Given the description of an element on the screen output the (x, y) to click on. 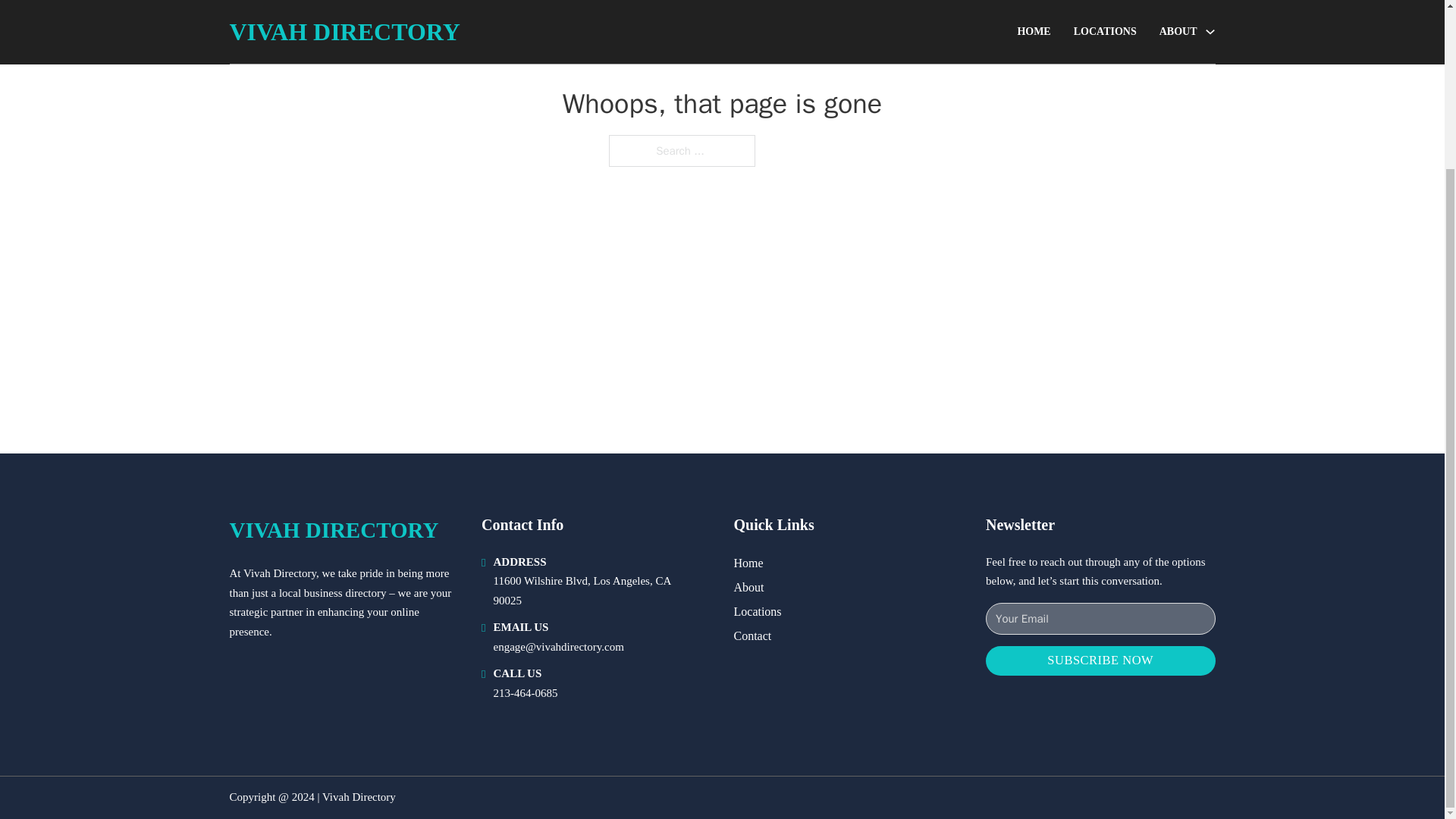
SUBSCRIBE NOW (1100, 660)
Home (747, 562)
Contact (752, 635)
11600 Wilshire Blvd, Los Angeles, CA 90025 (581, 590)
213-464-0685 (525, 693)
Locations (757, 611)
VIVAH DIRECTORY (333, 529)
About (748, 587)
